Given the description of an element on the screen output the (x, y) to click on. 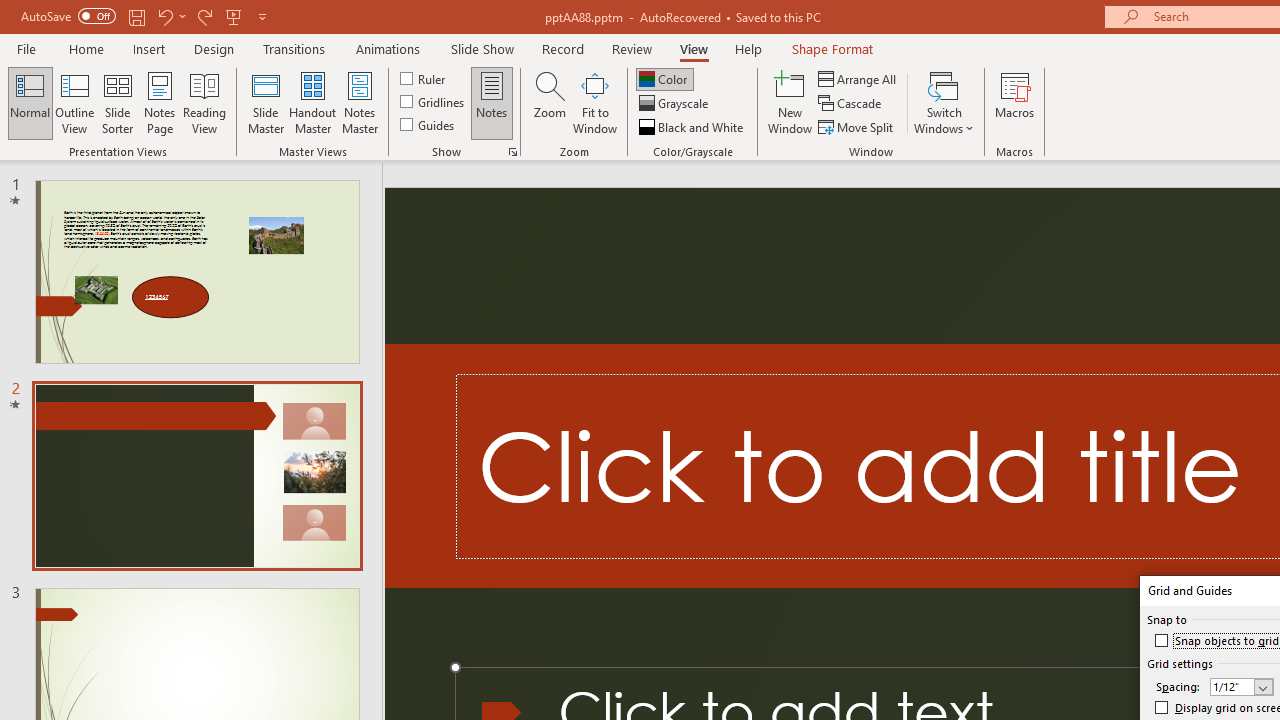
Notes (492, 102)
Guides (428, 124)
Zoom... (549, 102)
